Given the description of an element on the screen output the (x, y) to click on. 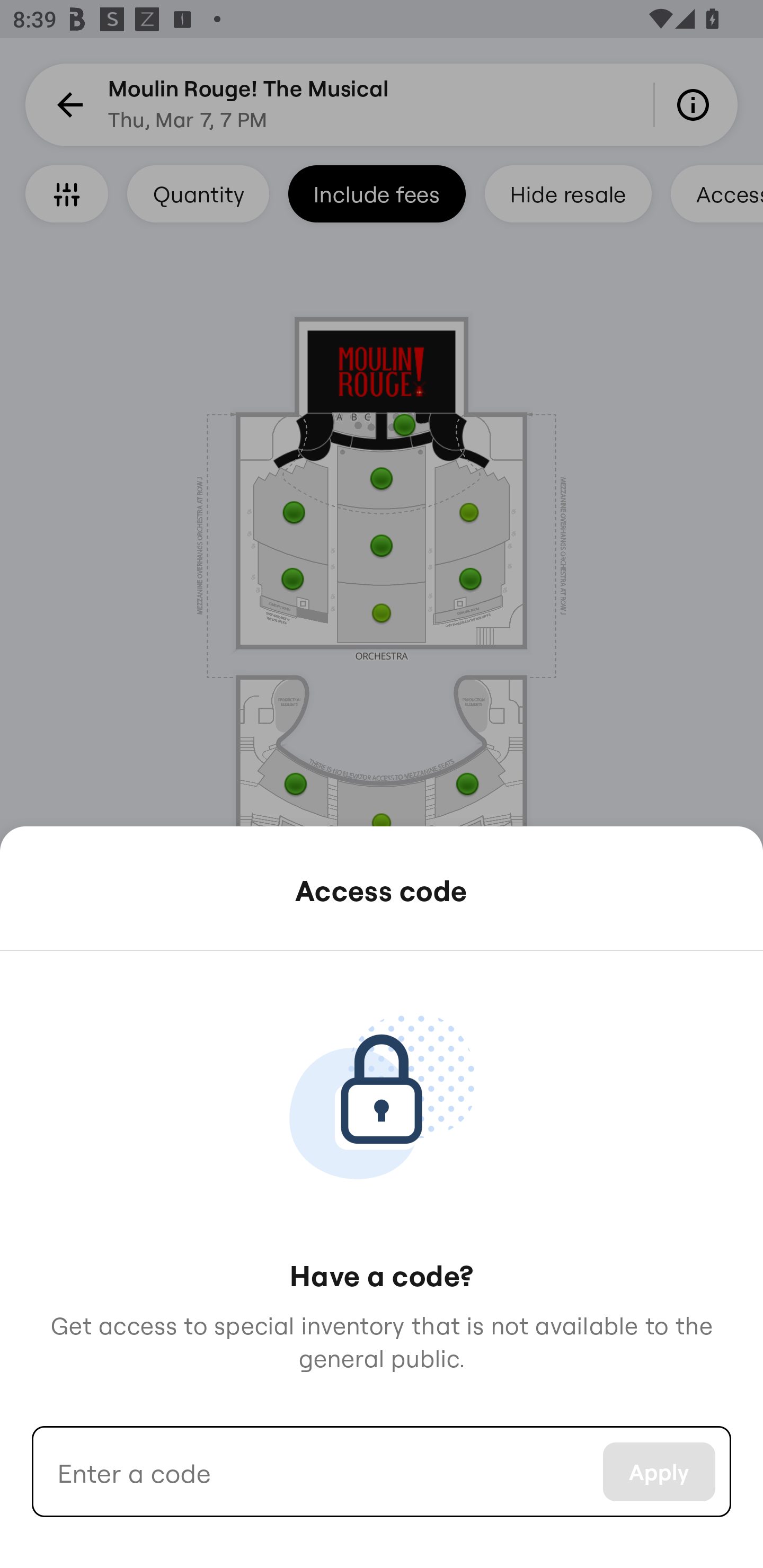
Enter a code (317, 1471)
Apply (658, 1471)
